Given the description of an element on the screen output the (x, y) to click on. 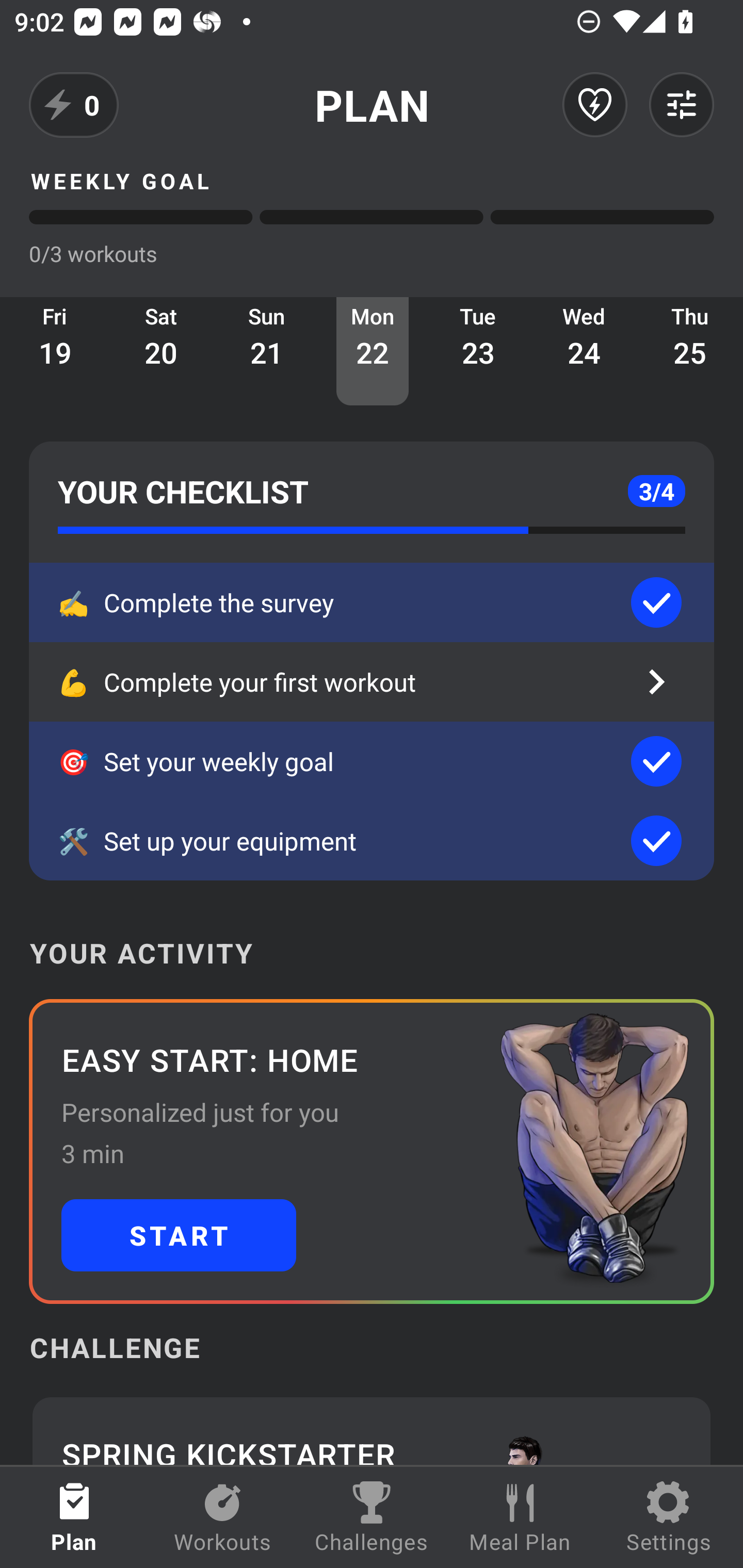
0 (73, 104)
Fri 19 (55, 351)
Sat 20 (160, 351)
Sun 21 (266, 351)
Mon 22 (372, 351)
Tue 23 (478, 351)
Wed 24 (584, 351)
Thu 25 (690, 351)
💪 Complete your first workout (371, 681)
START (178, 1235)
 Workouts  (222, 1517)
 Challenges  (371, 1517)
 Meal Plan  (519, 1517)
 Settings  (668, 1517)
